Given the description of an element on the screen output the (x, y) to click on. 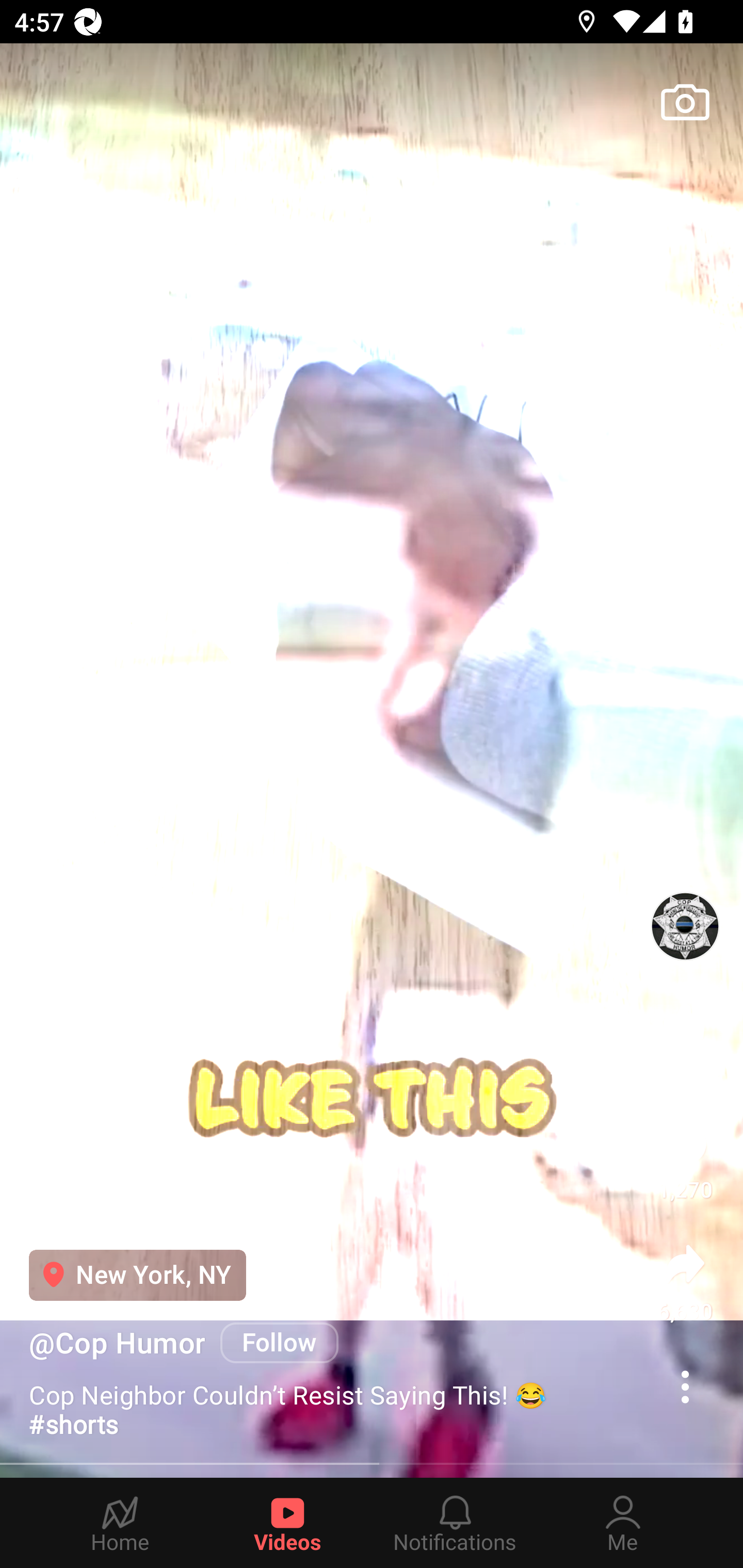
New York, NY (136, 1275)
Follow (279, 1341)
@Cop Humor (116, 1343)
Home (119, 1522)
Notifications (455, 1522)
Me (622, 1522)
